Given the description of an element on the screen output the (x, y) to click on. 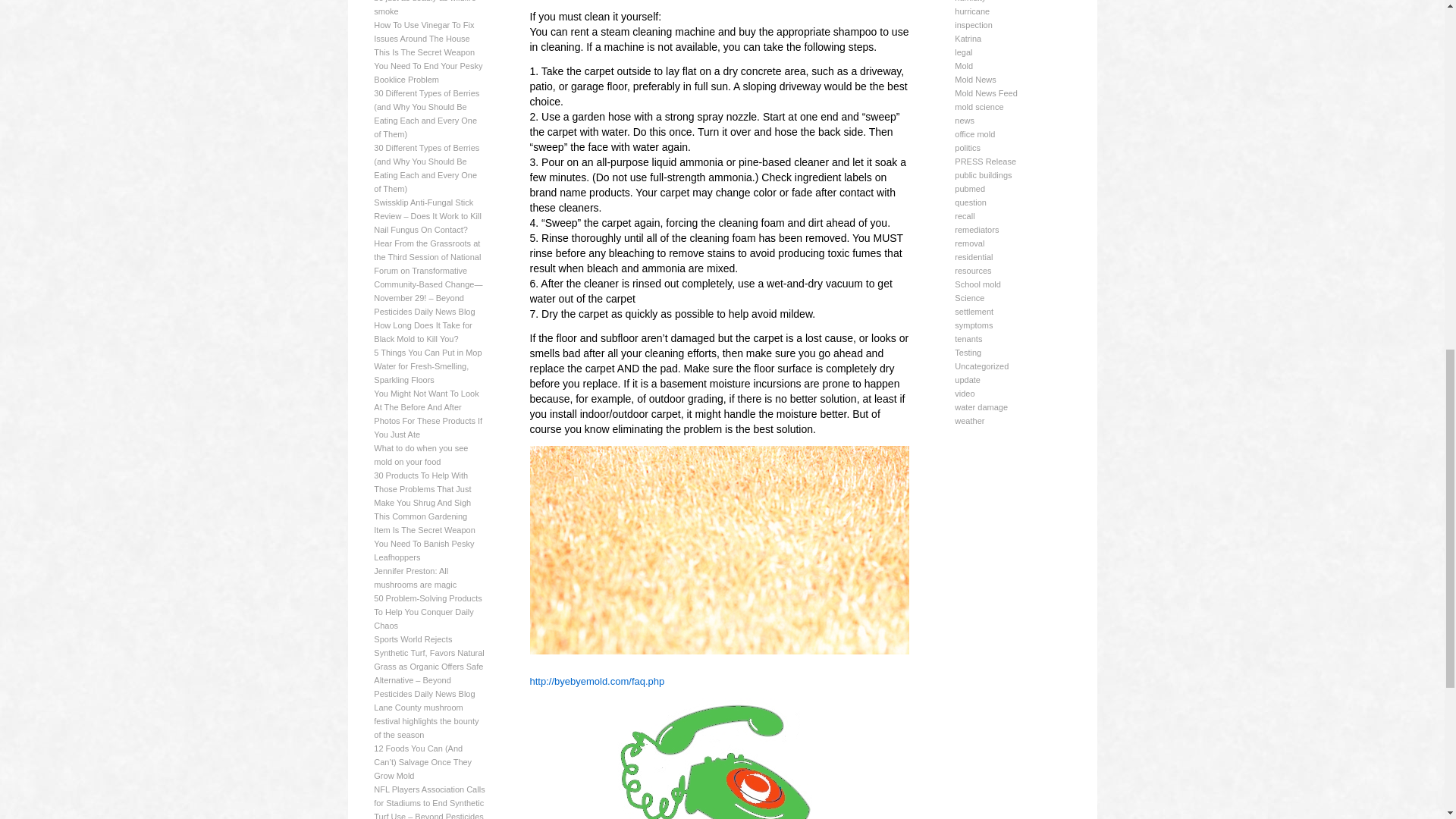
How Long Does It Take for Black Mold to Kill You? (422, 332)
How To Use Vinegar To Fix Issues Around The House (424, 31)
